Given the description of an element on the screen output the (x, y) to click on. 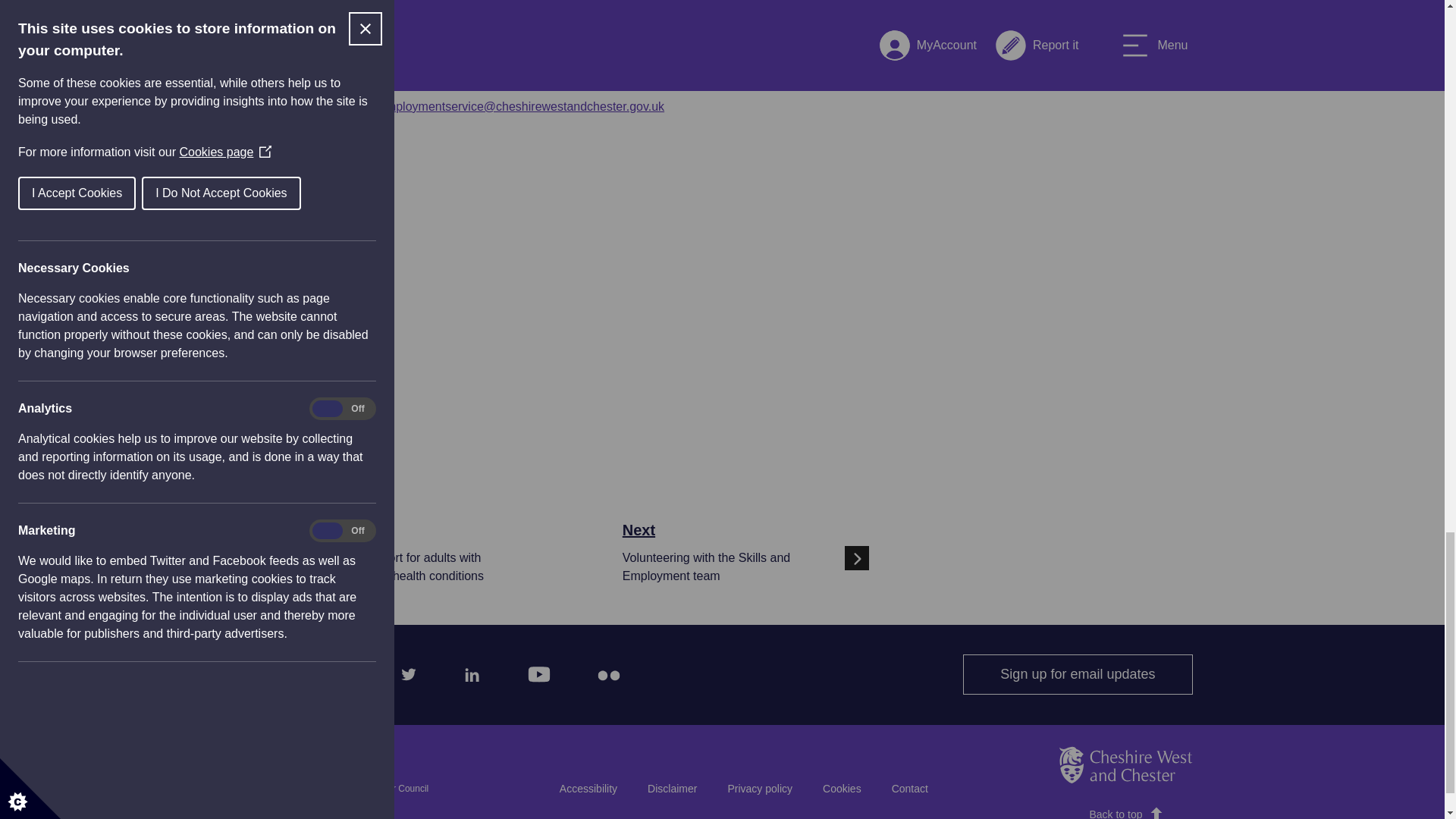
Instagram (340, 670)
Accessibility (588, 788)
Facebook (277, 670)
Privacy policy (759, 788)
LinkedIn (746, 557)
Twitter (468, 670)
Disclaimer (404, 670)
Supported Employment (672, 788)
Back to top (1077, 674)
Flickr (533, 670)
